Given the description of an element on the screen output the (x, y) to click on. 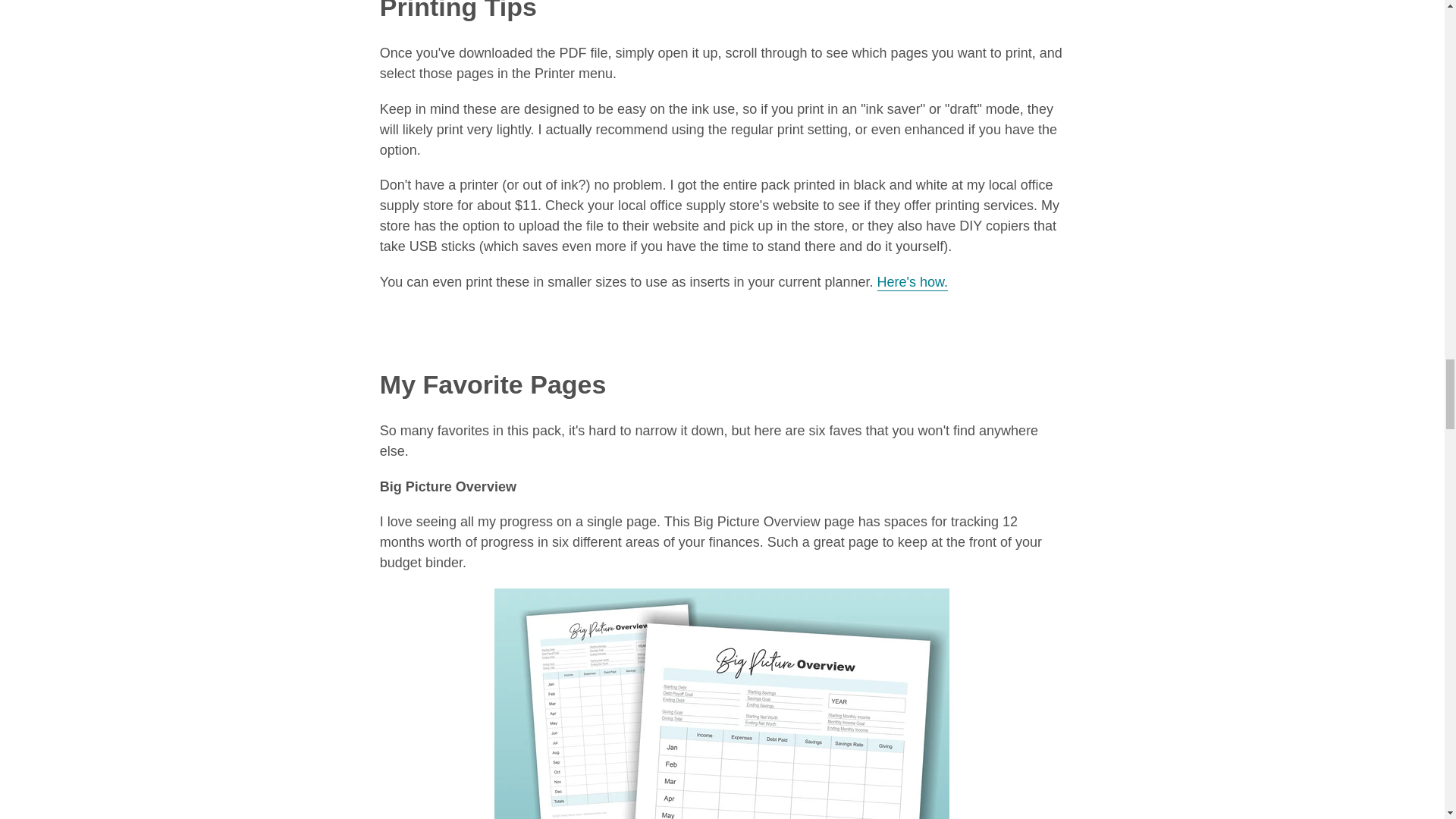
Here's how. (912, 282)
